Given the description of an element on the screen output the (x, y) to click on. 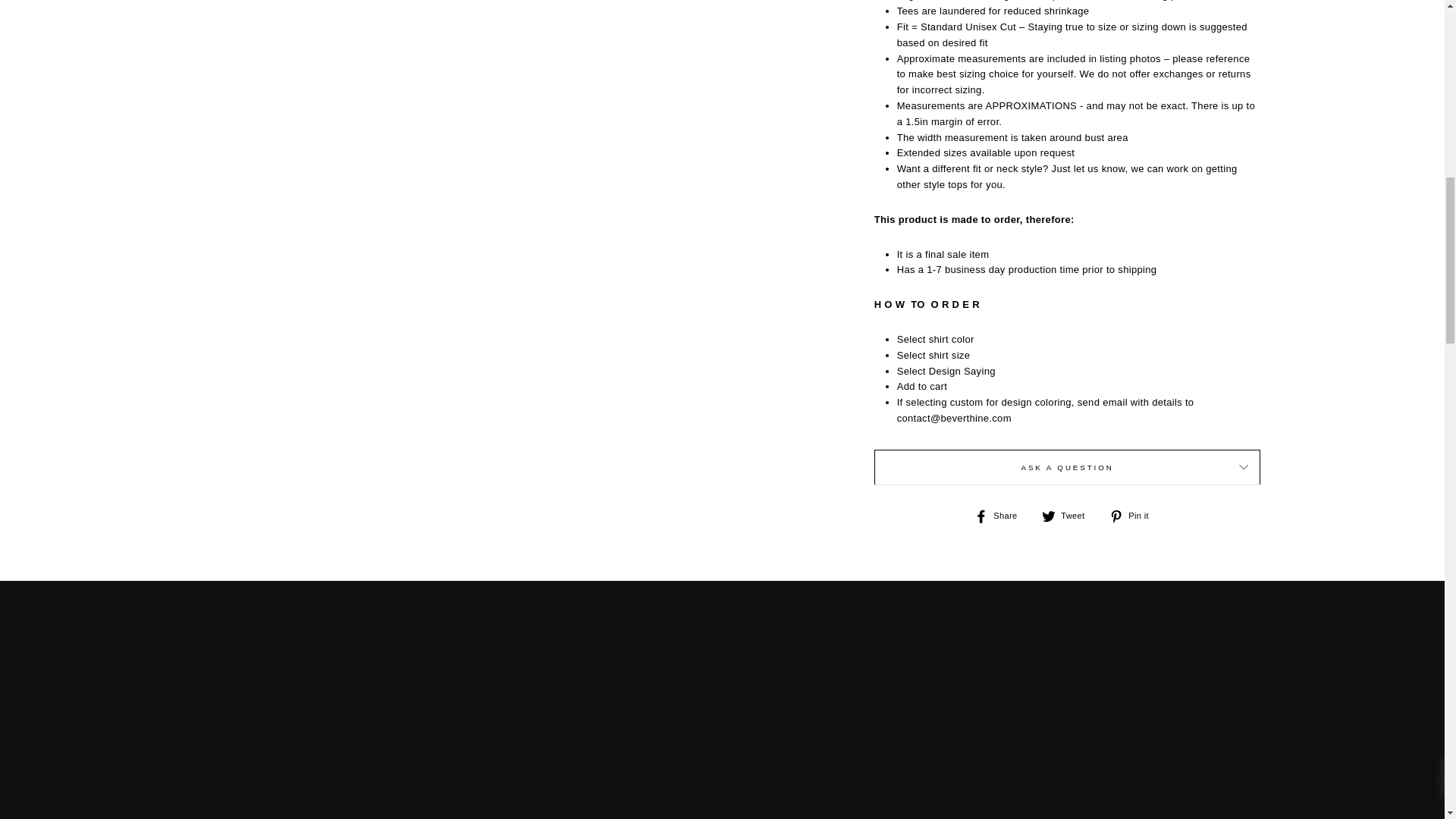
Pin on Pinterest (1133, 515)
Tweet on Twitter (1069, 515)
Share on Facebook (1000, 515)
